Given the description of an element on the screen output the (x, y) to click on. 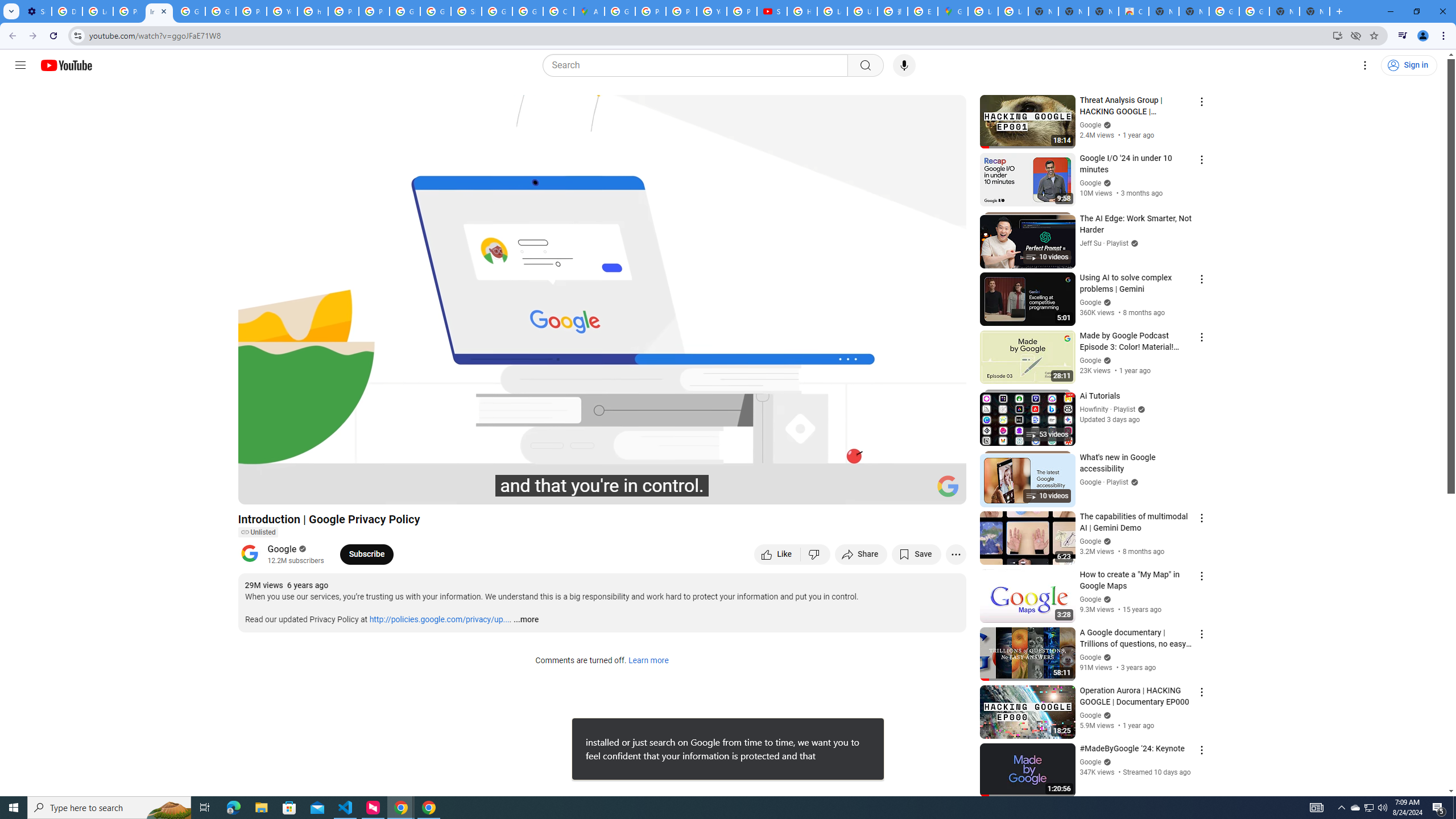
Guide (20, 65)
Google Maps (952, 11)
Explore new street-level details - Google Maps Help (922, 11)
Privacy Help Center - Policies Help (650, 11)
New Tab (1314, 11)
Dislike this video (815, 554)
